Given the description of an element on the screen output the (x, y) to click on. 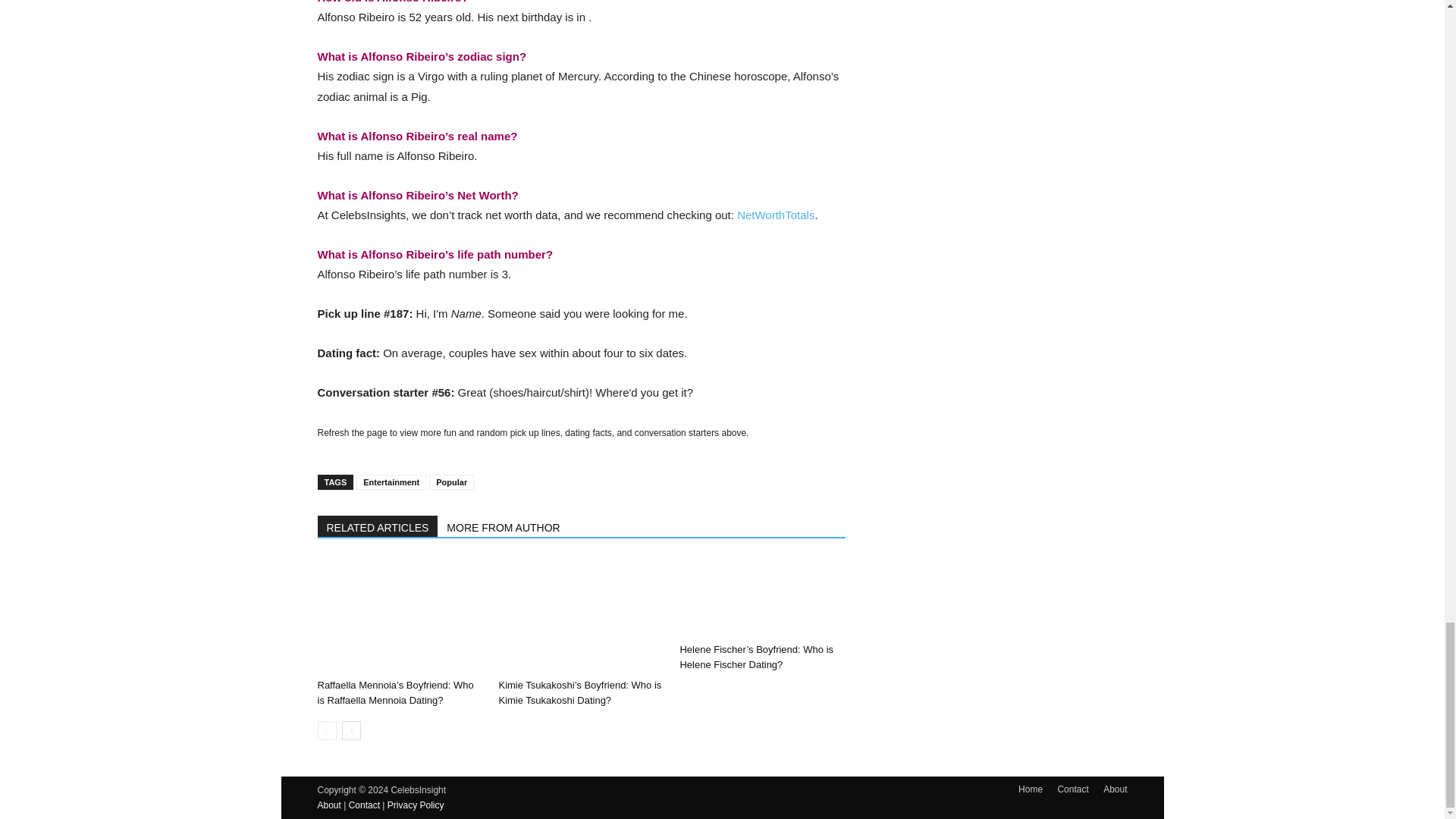
Contact (1072, 789)
MORE FROM AUTHOR (503, 526)
RELATED ARTICLES (377, 526)
Privacy Policy (415, 805)
Contact (364, 805)
Entertainment (391, 482)
NetWorthTotals (774, 214)
About (1114, 789)
Home (1029, 789)
About (328, 805)
